Given the description of an element on the screen output the (x, y) to click on. 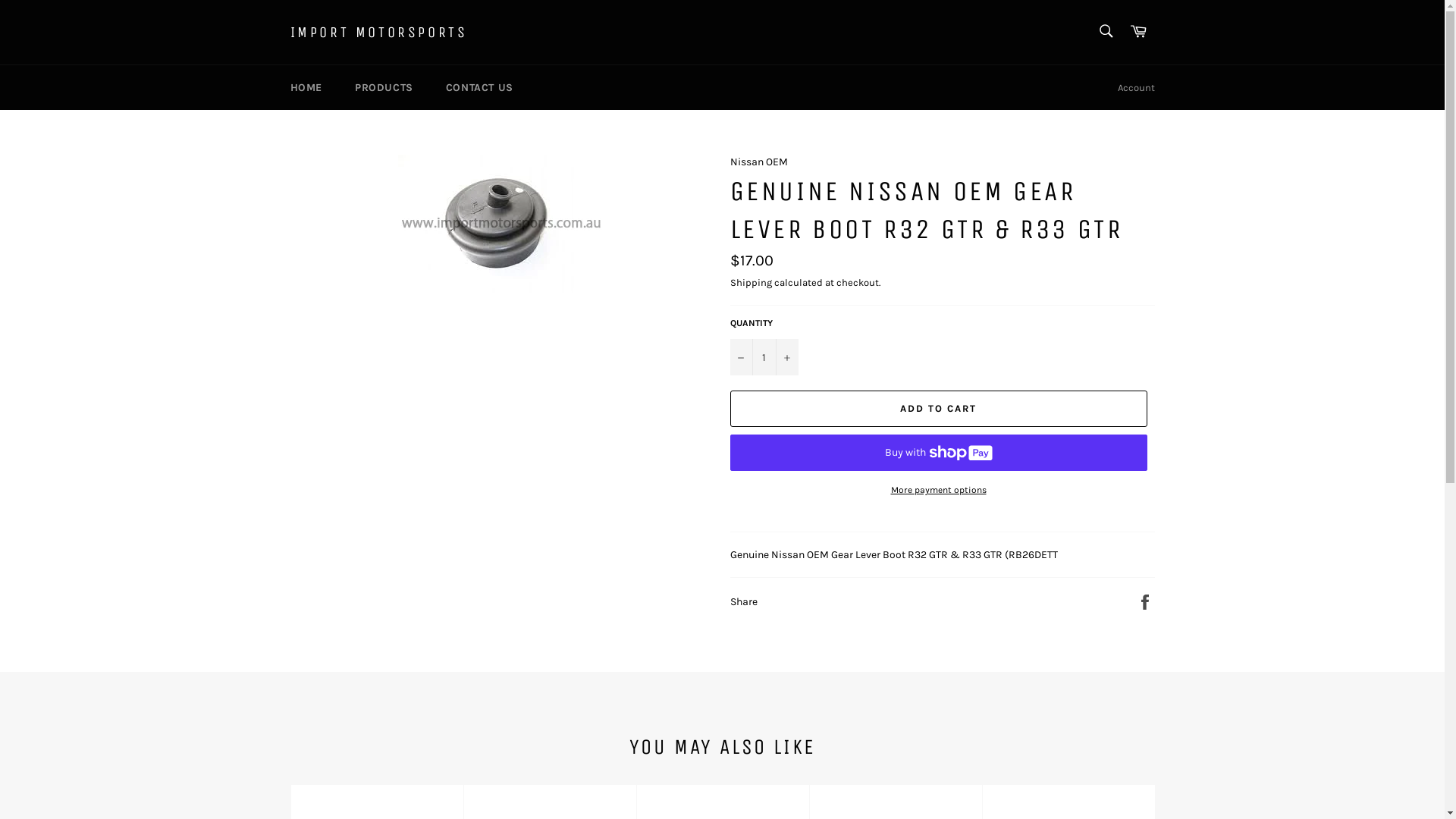
Search Element type: text (1105, 31)
HOME Element type: text (305, 87)
CONTACT US Element type: text (479, 87)
IMPORT MOTORSPORTS Element type: text (378, 32)
More payment options Element type: text (937, 490)
Share on Facebook Element type: text (1144, 600)
Shipping Element type: text (750, 282)
ADD TO CART Element type: text (937, 408)
PRODUCTS Element type: text (383, 87)
Account Element type: text (1136, 87)
Cart Element type: text (1138, 32)
+ Element type: text (786, 356)
